Given the description of an element on the screen output the (x, y) to click on. 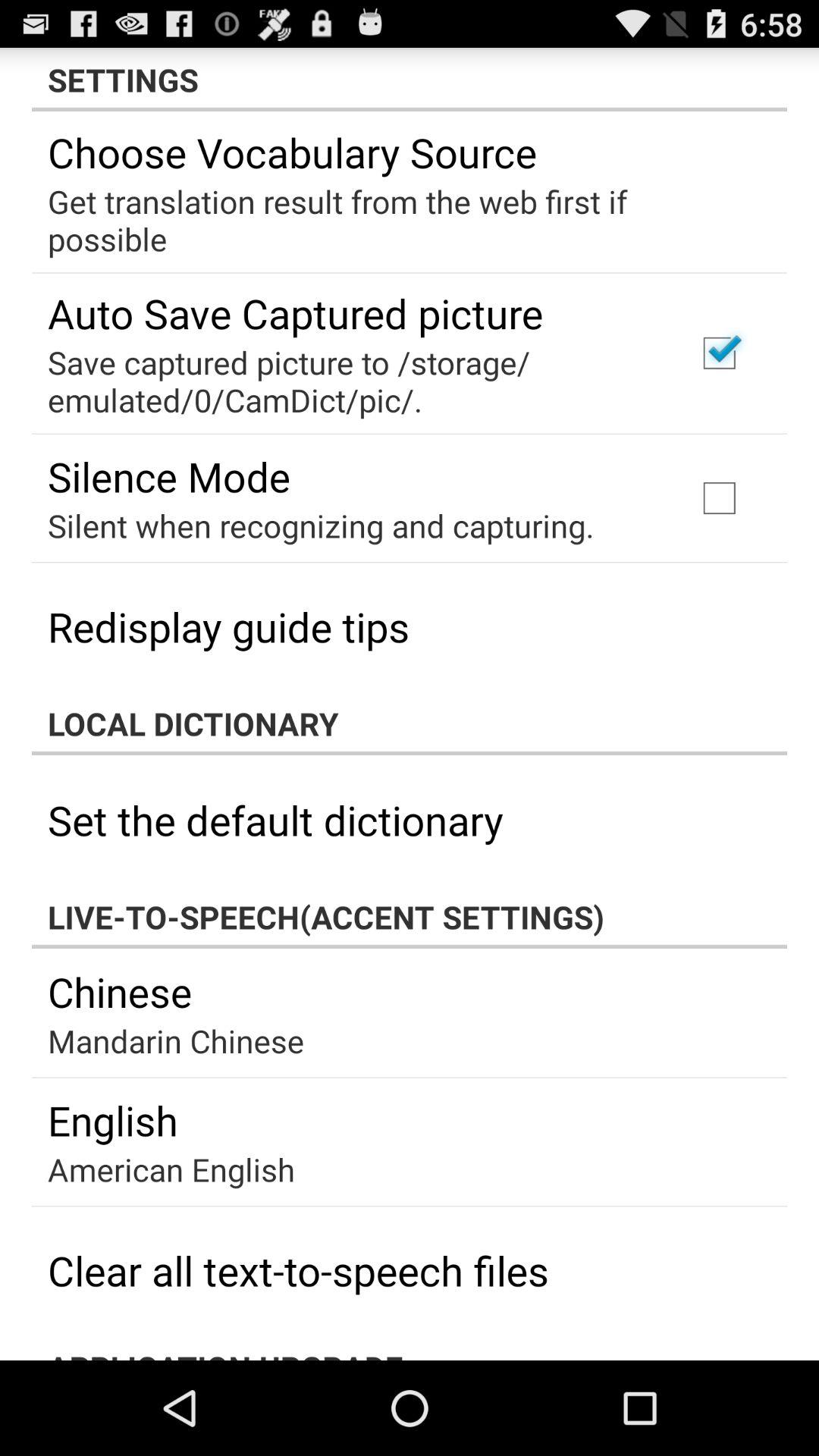
flip to silence mode item (168, 475)
